Given the description of an element on the screen output the (x, y) to click on. 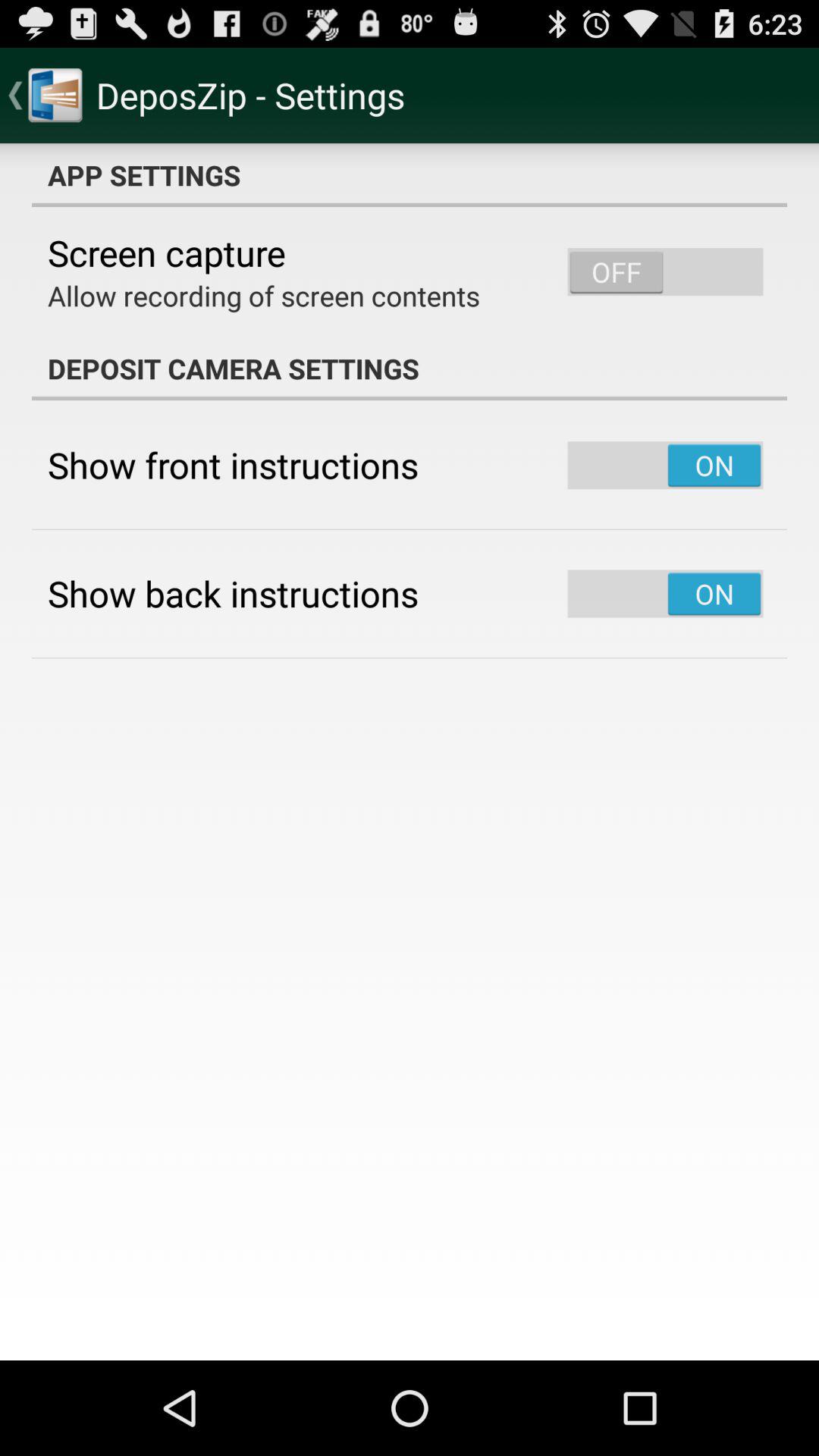
tap the app below app settings item (166, 252)
